Given the description of an element on the screen output the (x, y) to click on. 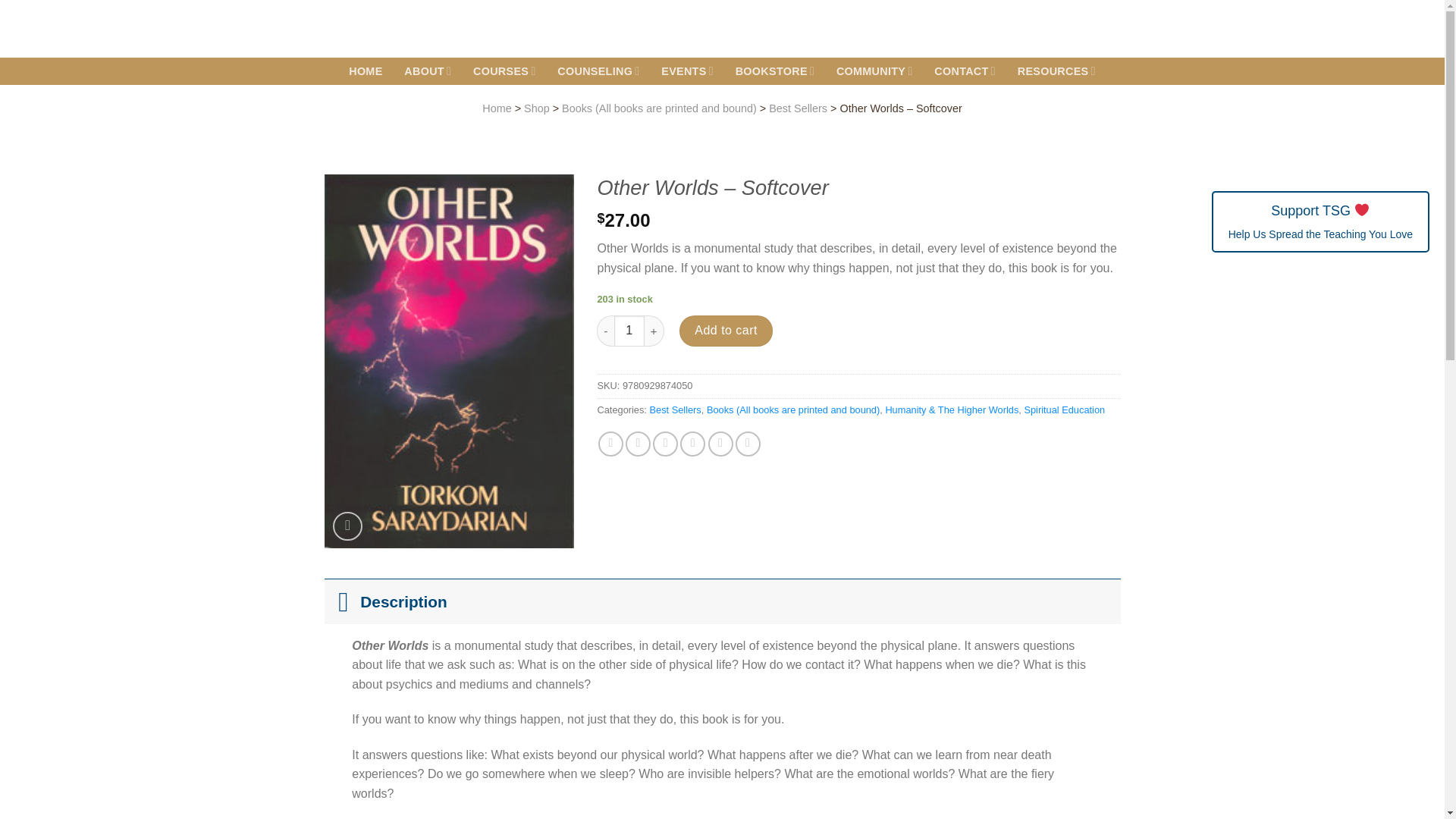
Share on LinkedIn (720, 443)
EVENTS (686, 71)
ABOUT (428, 71)
TSG Foundation - Center for Spiritual Development (430, 28)
Go to Shop. (537, 108)
HOME (365, 71)
Pin on Pinterest (691, 443)
Share on Facebook (610, 443)
COUNSELING (598, 71)
Share on Tumblr (747, 443)
